Given the description of an element on the screen output the (x, y) to click on. 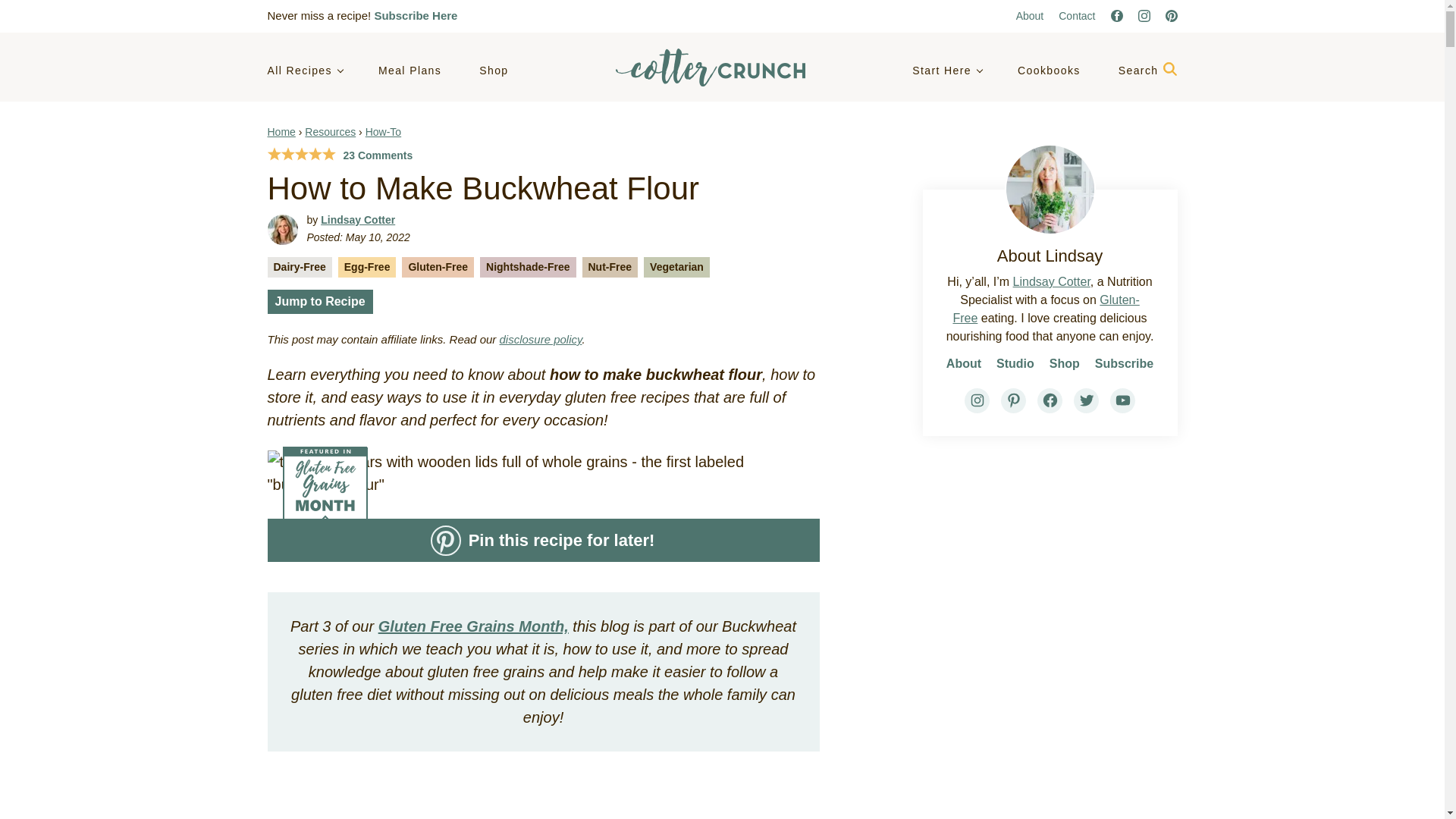
About (1029, 15)
Contact (1076, 15)
Save to Pinterest (542, 539)
All Recipes (303, 70)
Subscribe Here (415, 15)
